Given the description of an element on the screen output the (x, y) to click on. 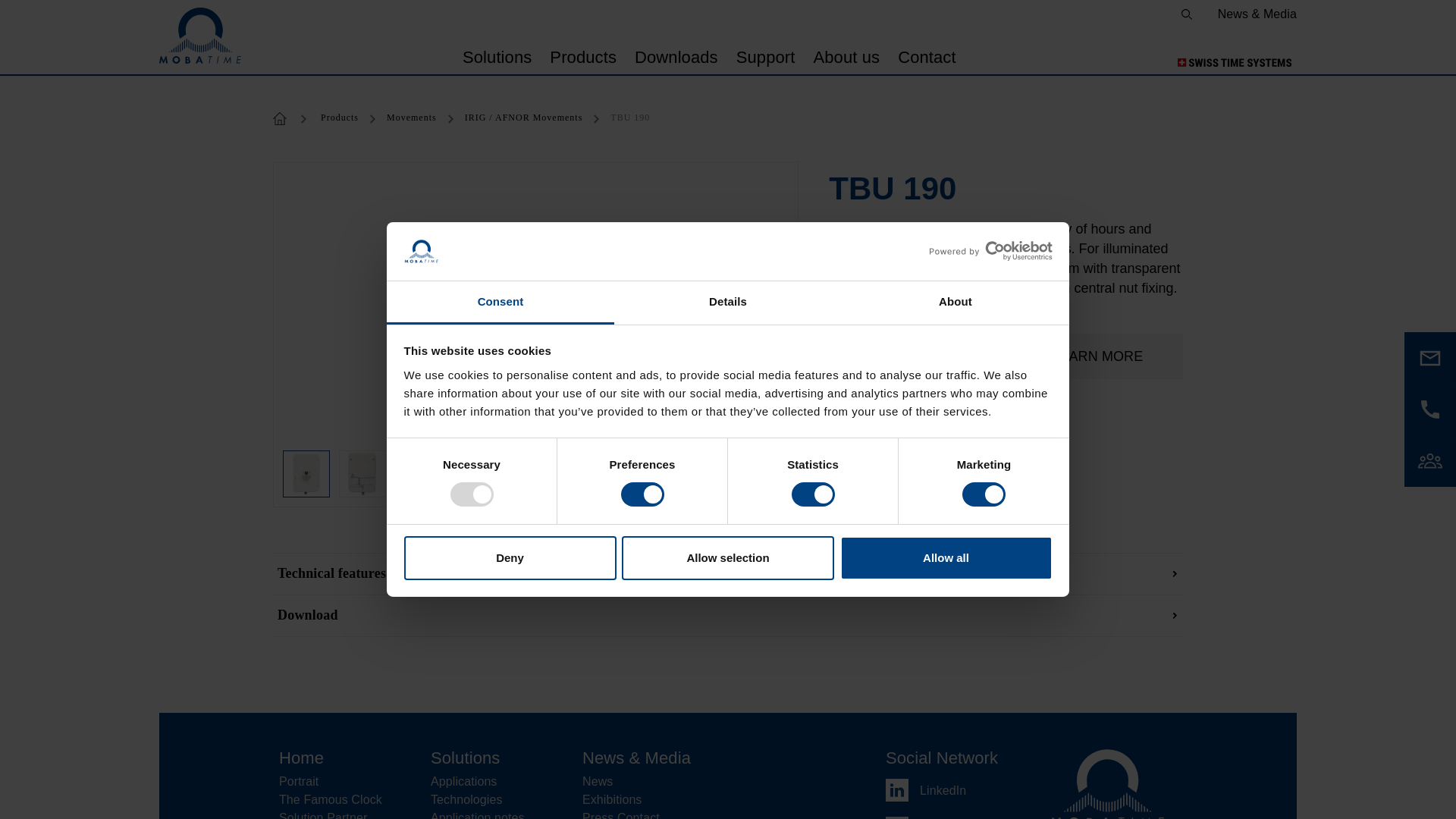
About (954, 302)
Allow all (946, 557)
Consent (500, 302)
Allow selection (727, 557)
Details (727, 302)
Deny (509, 557)
